Given the description of an element on the screen output the (x, y) to click on. 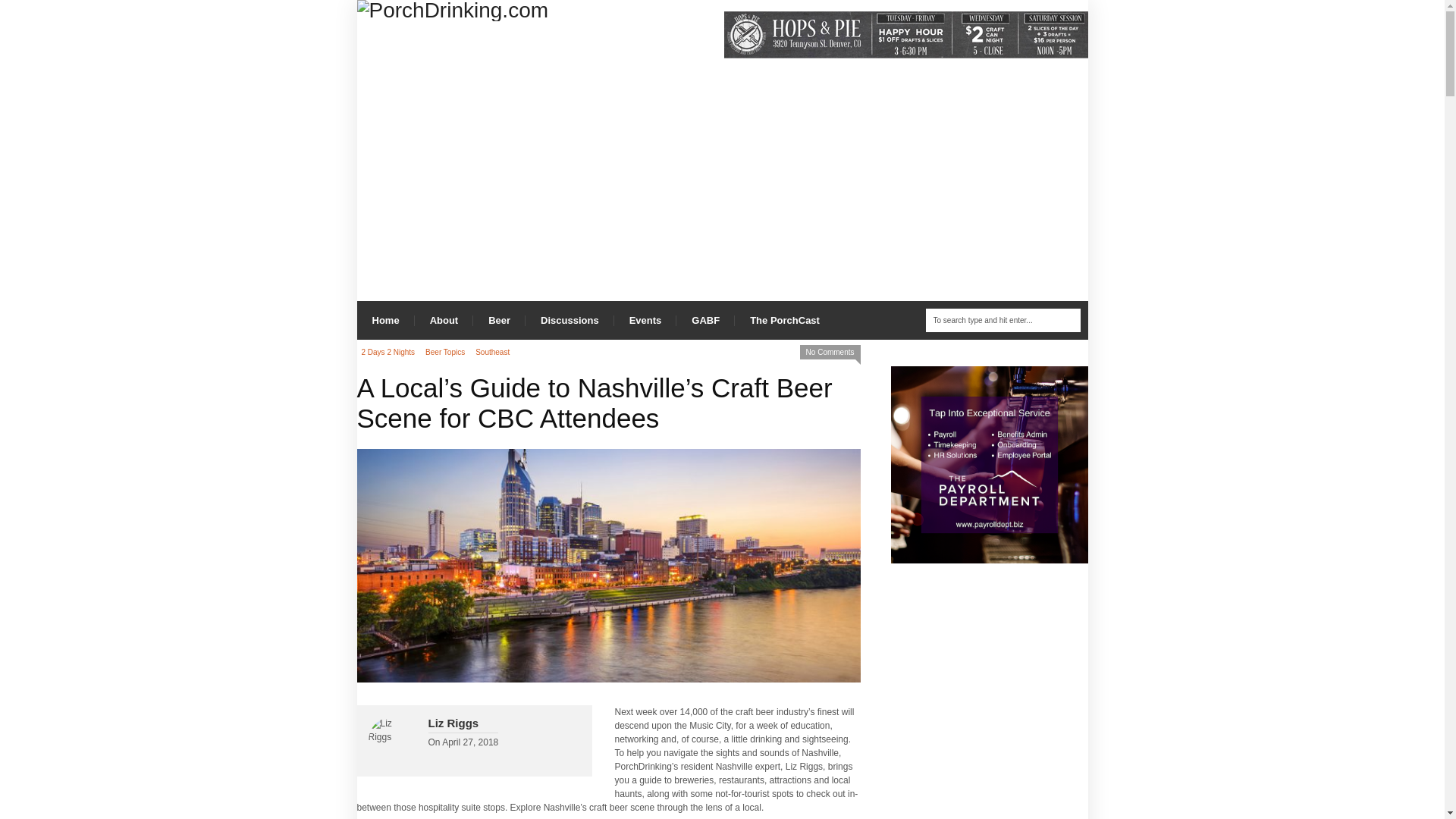
Posts by Liz Riggs (453, 722)
Home (384, 320)
GABF (706, 320)
Events (645, 320)
Discussions (569, 320)
To search type and hit enter... (1002, 320)
The PorchCast (784, 320)
Beer (499, 320)
About (444, 320)
